Given the description of an element on the screen output the (x, y) to click on. 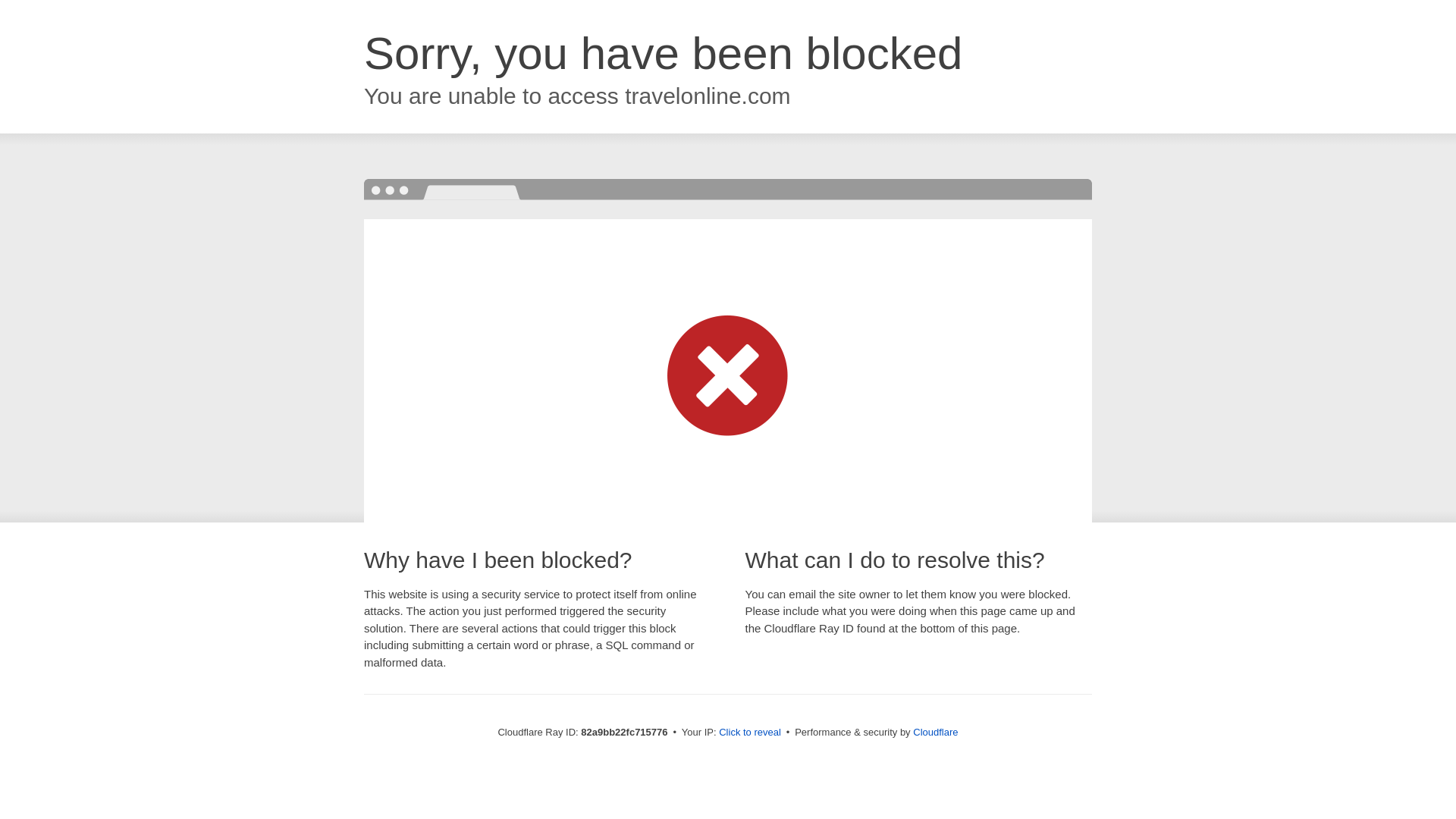
Cloudflare Element type: text (935, 731)
Click to reveal Element type: text (749, 732)
